Given the description of an element on the screen output the (x, y) to click on. 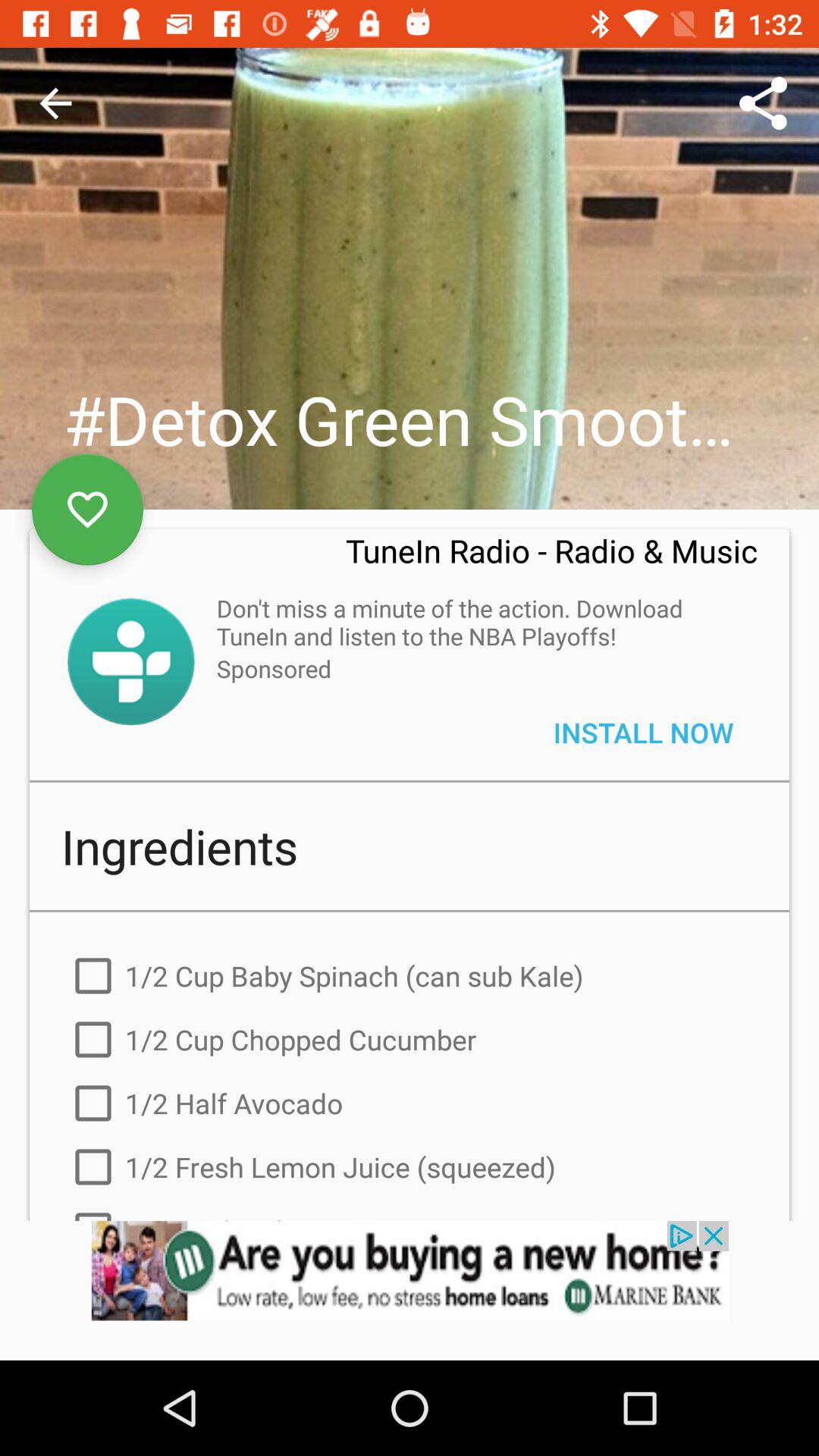
add to favorites (87, 509)
